Given the description of an element on the screen output the (x, y) to click on. 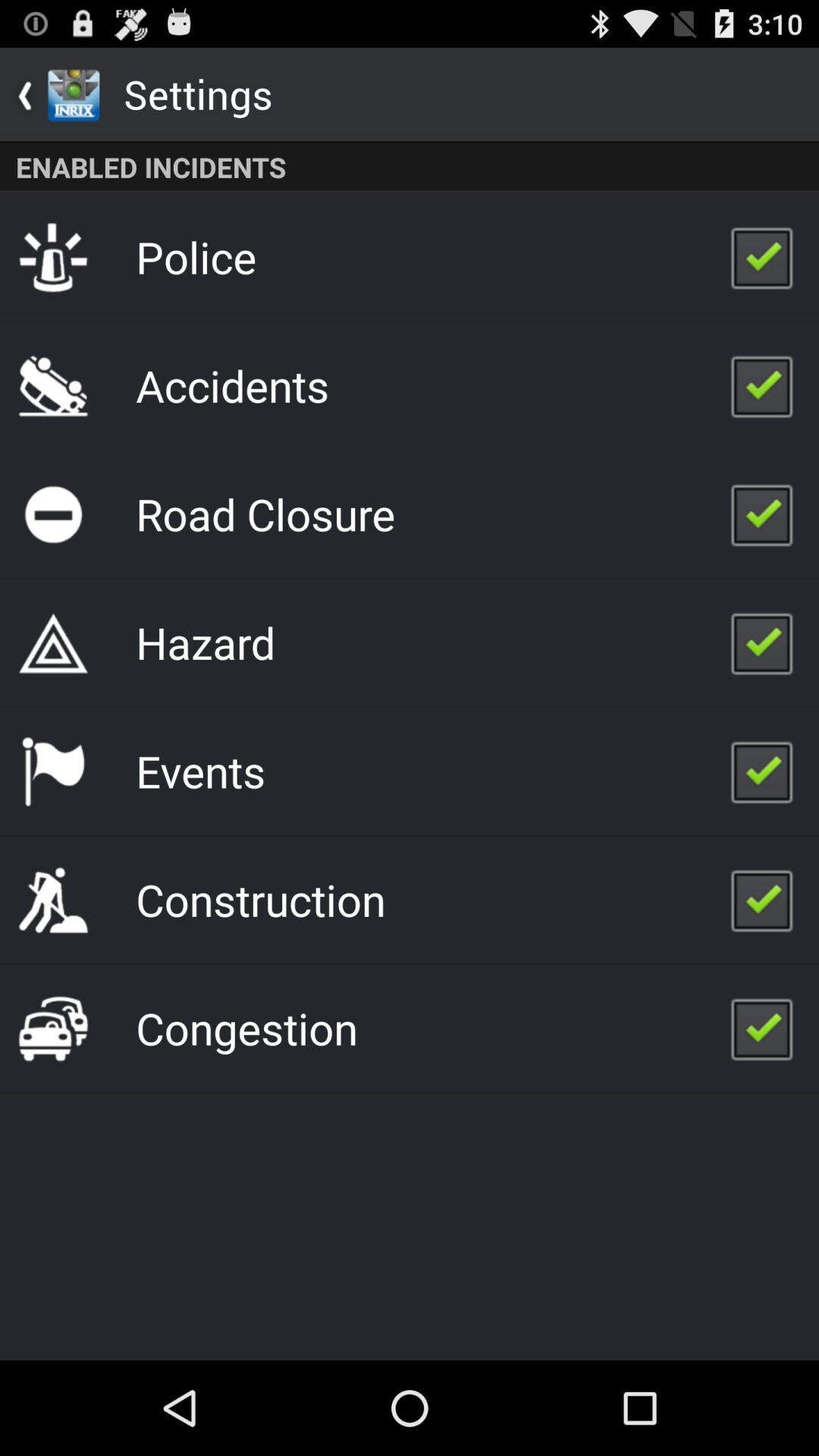
tap the item above construction (200, 770)
